Given the description of an element on the screen output the (x, y) to click on. 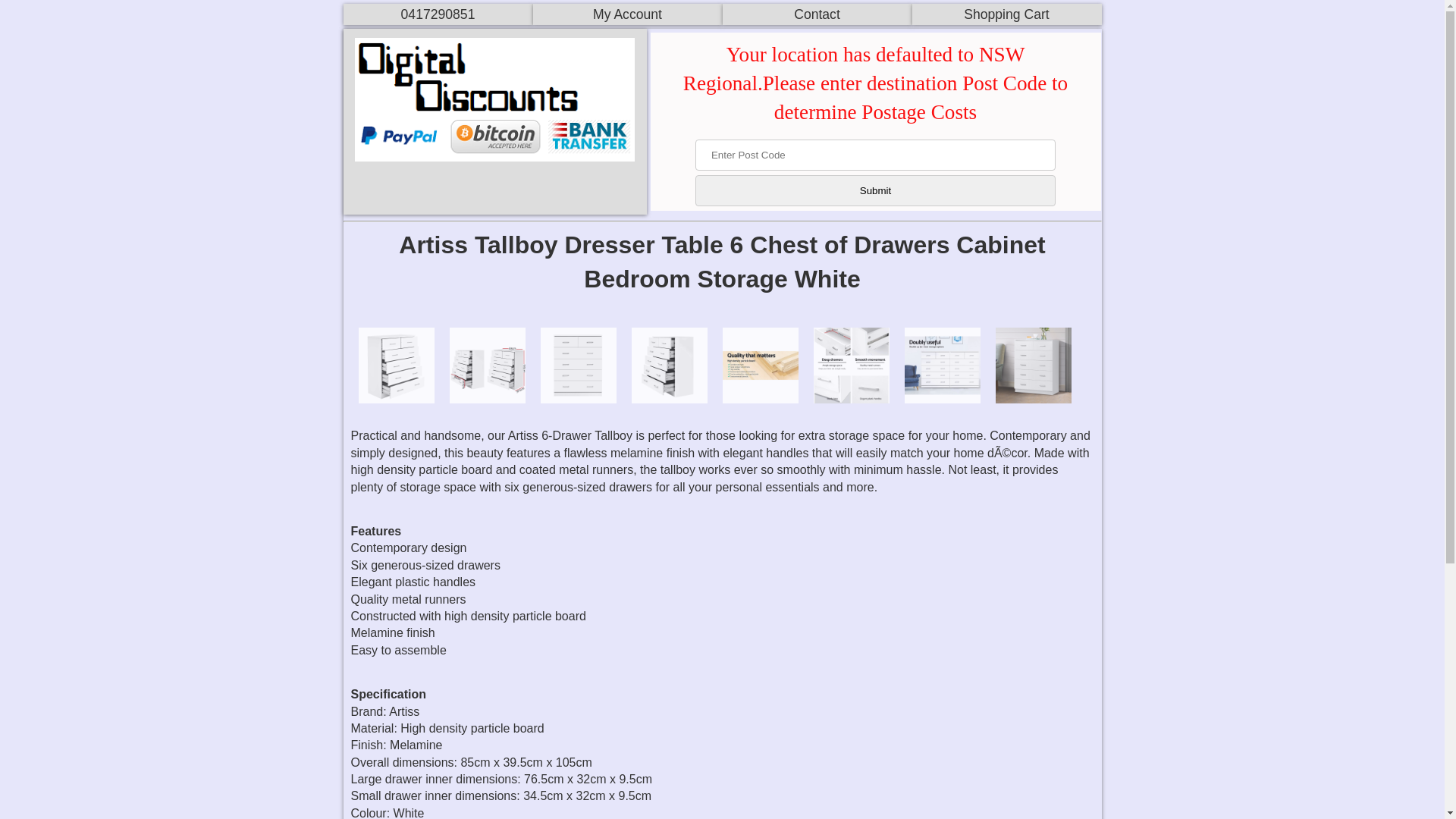
Contact Element type: text (816, 14)
Shopping Cart Element type: text (1006, 14)
My Account Element type: text (626, 14)
0417290851 Element type: text (437, 14)
Submit Element type: text (875, 190)
